Given the description of an element on the screen output the (x, y) to click on. 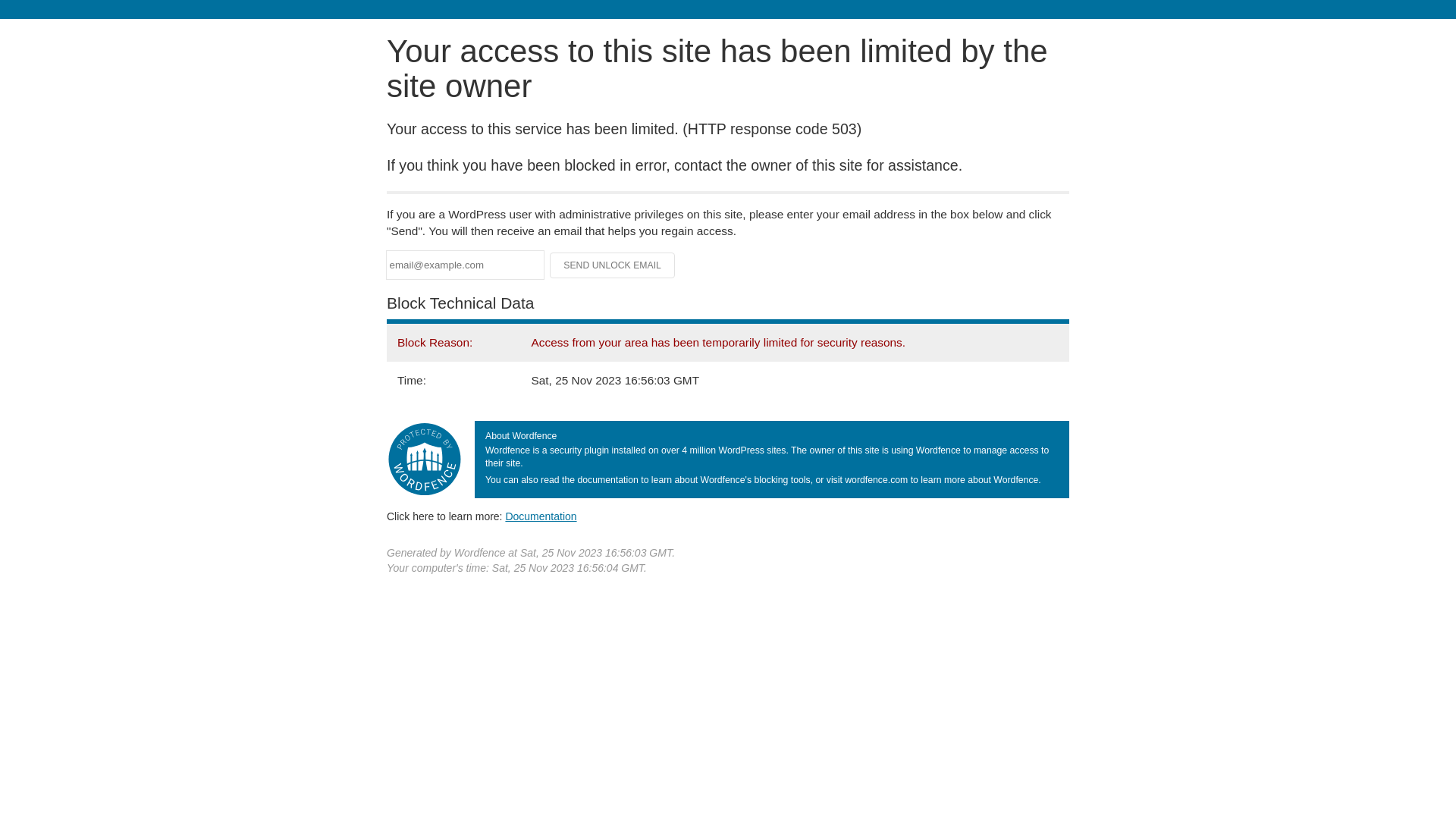
Documentation Element type: text (540, 516)
Send Unlock Email Element type: text (612, 265)
